Given the description of an element on the screen output the (x, y) to click on. 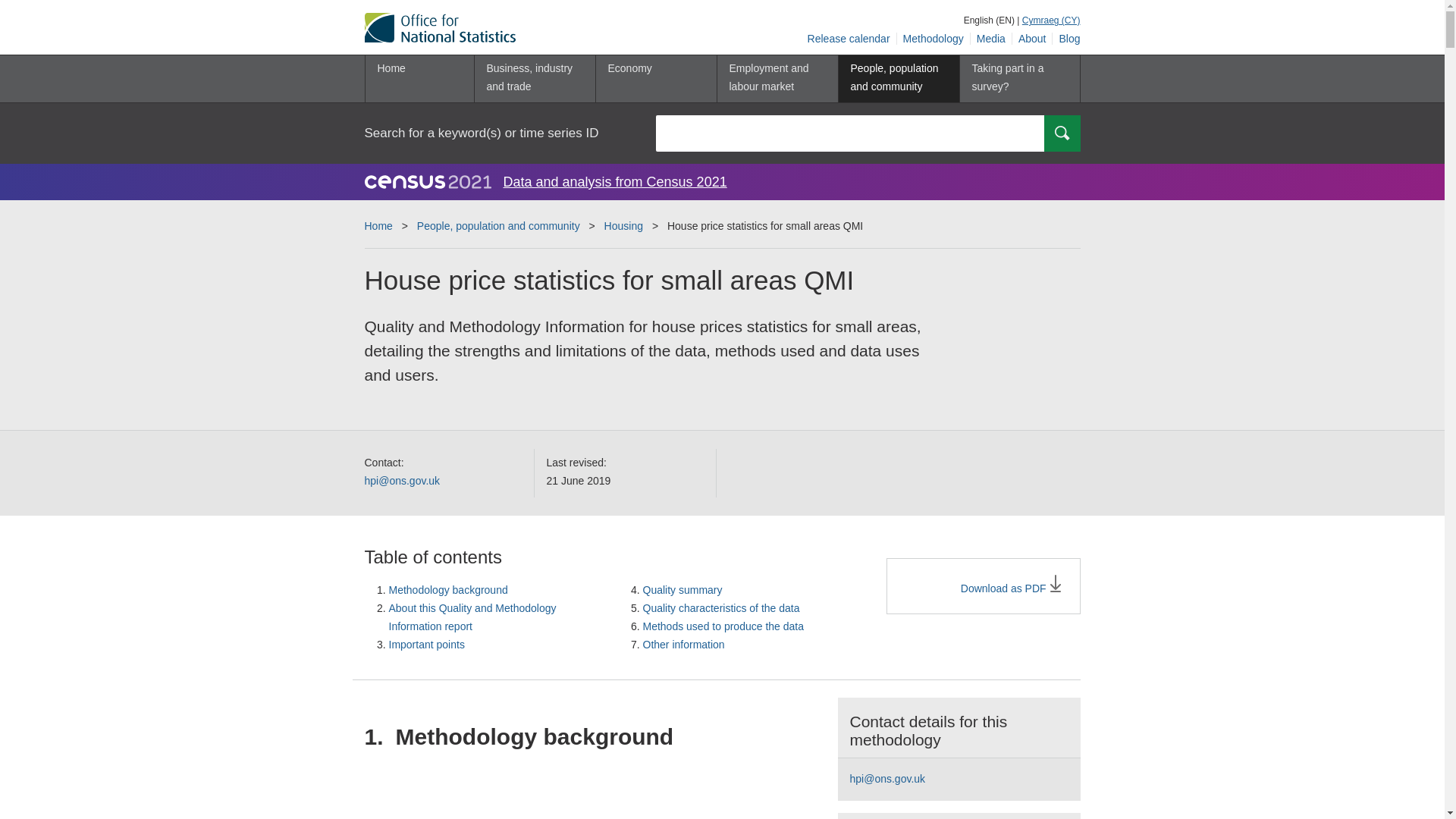
Census 2021 (427, 181)
Media (991, 38)
Methodology (933, 38)
Release calendar (849, 38)
People, population and community (897, 78)
Business, industry and trade (533, 78)
Blog (1066, 38)
Home (418, 78)
About this Quality and Methodology Information report (472, 616)
Methodology background (447, 589)
Employment and labour market (776, 78)
About (1031, 38)
Economy (655, 78)
Quality characteristics of the data (721, 607)
Quality summary (682, 589)
